Given the description of an element on the screen output the (x, y) to click on. 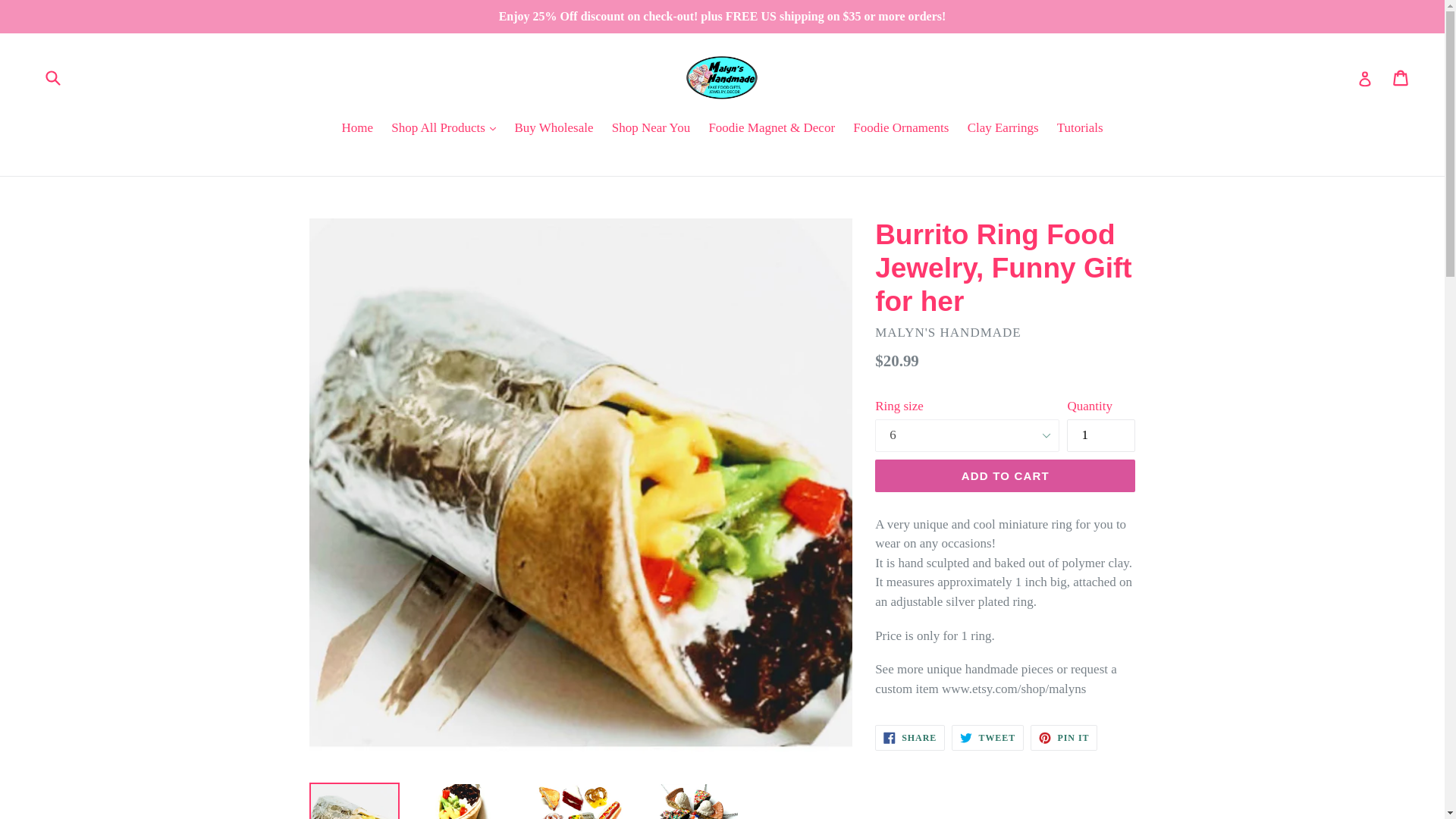
Home (356, 128)
Pin on Pinterest (1063, 737)
1 (1101, 435)
Shop Near You (650, 128)
Buy Wholesale (552, 128)
Tweet on Twitter (987, 737)
Share on Facebook (909, 737)
